Given the description of an element on the screen output the (x, y) to click on. 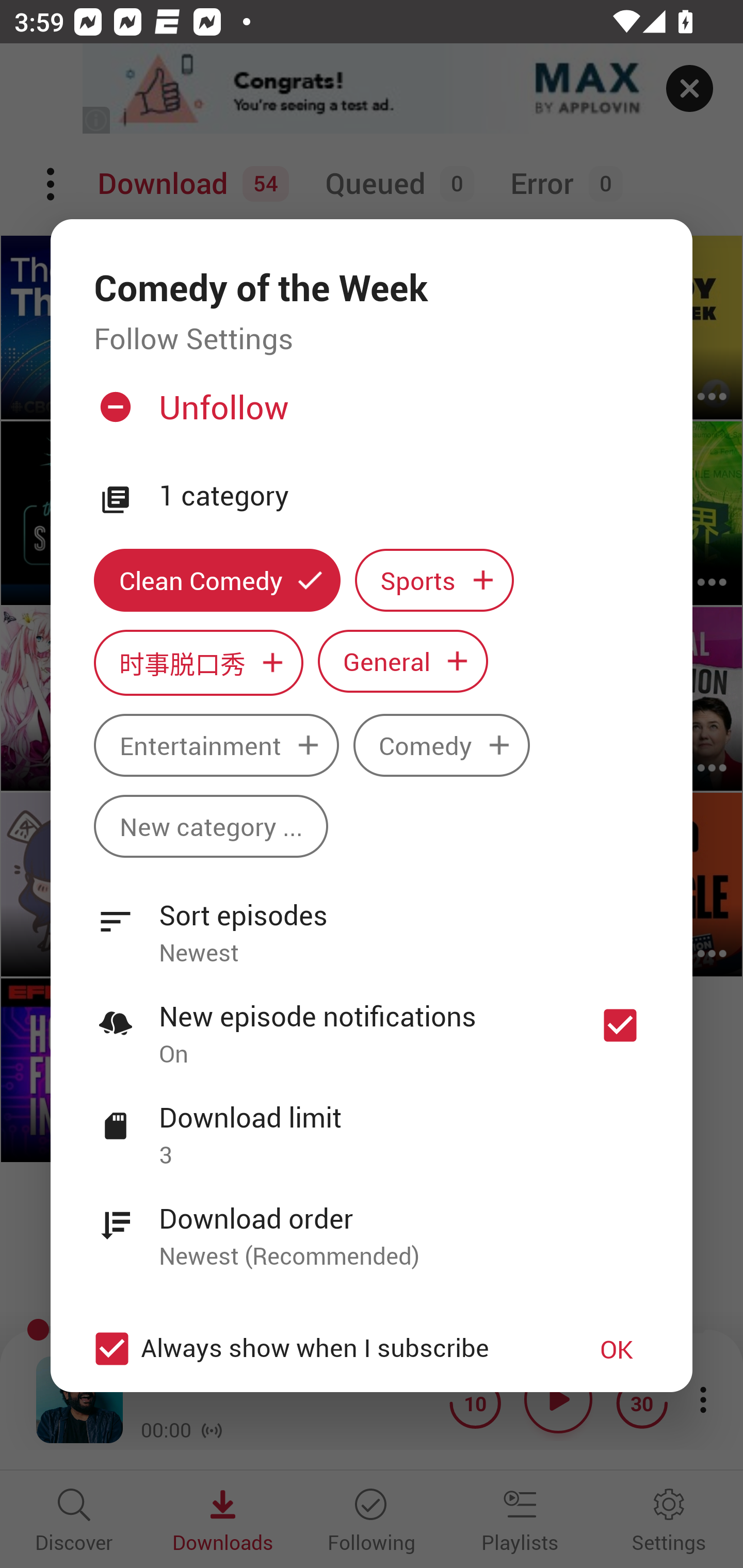
Unfollow (369, 415)
1 category (404, 495)
Clean Comedy (216, 579)
Sports (434, 579)
时事脱口秀 (198, 663)
General (403, 661)
Entertainment (215, 744)
Comedy (441, 744)
New category ... (210, 825)
Sort episodes Newest (371, 922)
New episode notifications (620, 1025)
Download limit 3 (371, 1125)
Download order Newest (Recommended) (371, 1226)
OK (616, 1349)
Always show when I subscribe (320, 1349)
